Given the description of an element on the screen output the (x, y) to click on. 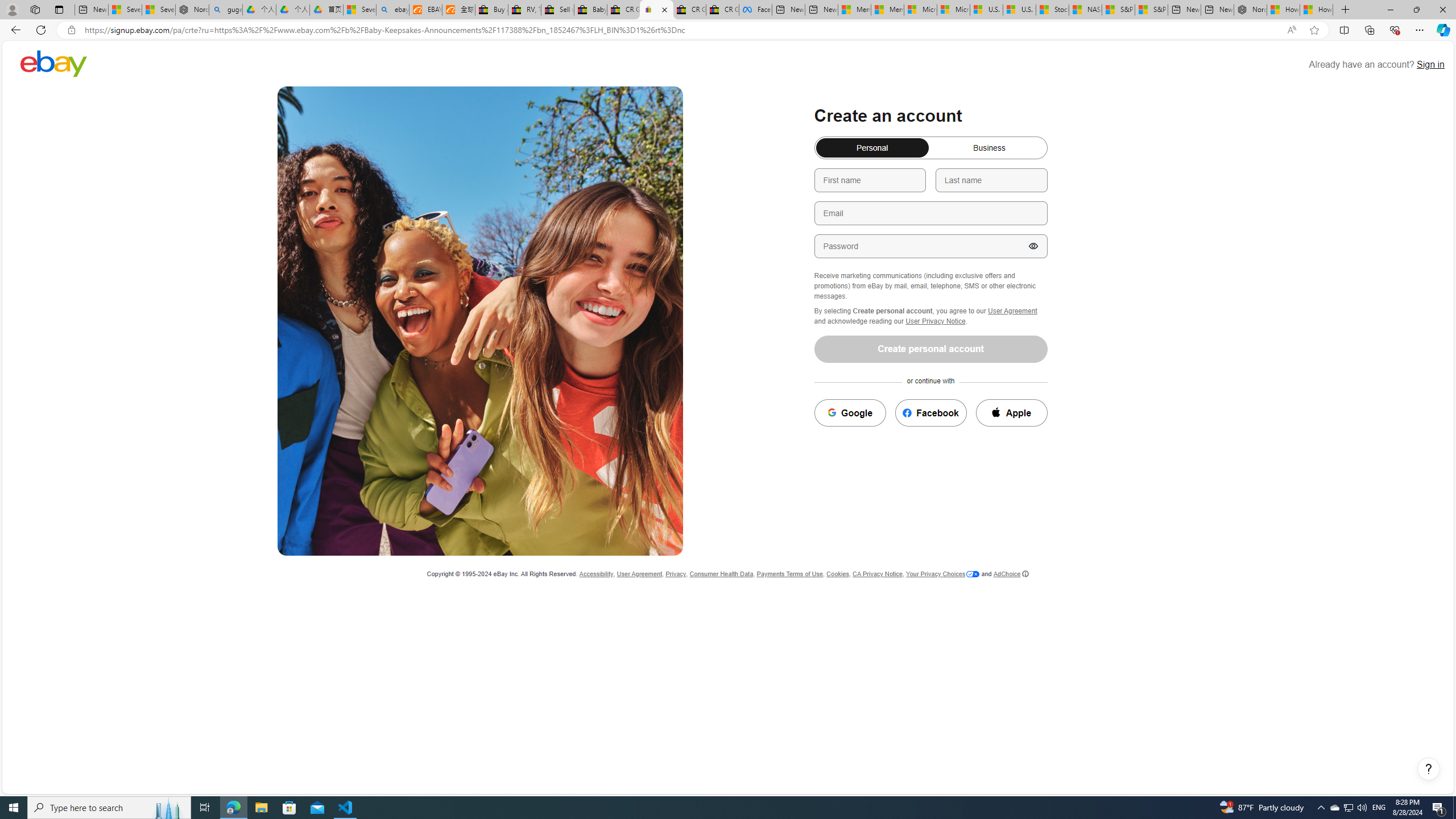
First name (869, 179)
Google, opens in new window or tab (849, 412)
Show password (1032, 245)
Accessibility (595, 573)
